Given the description of an element on the screen output the (x, y) to click on. 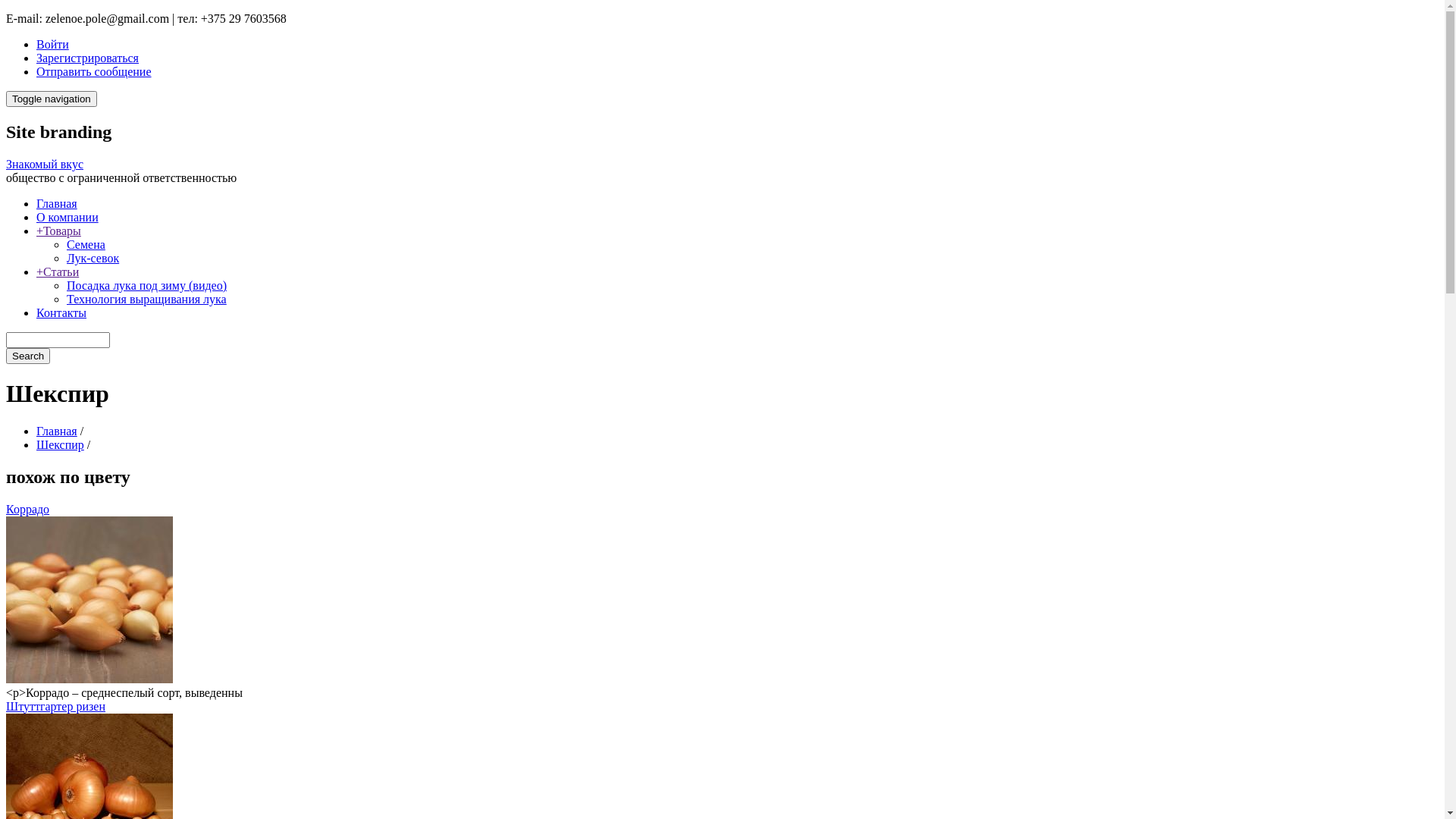
Toggle navigation Element type: text (51, 98)
Search Element type: text (28, 356)
